Given the description of an element on the screen output the (x, y) to click on. 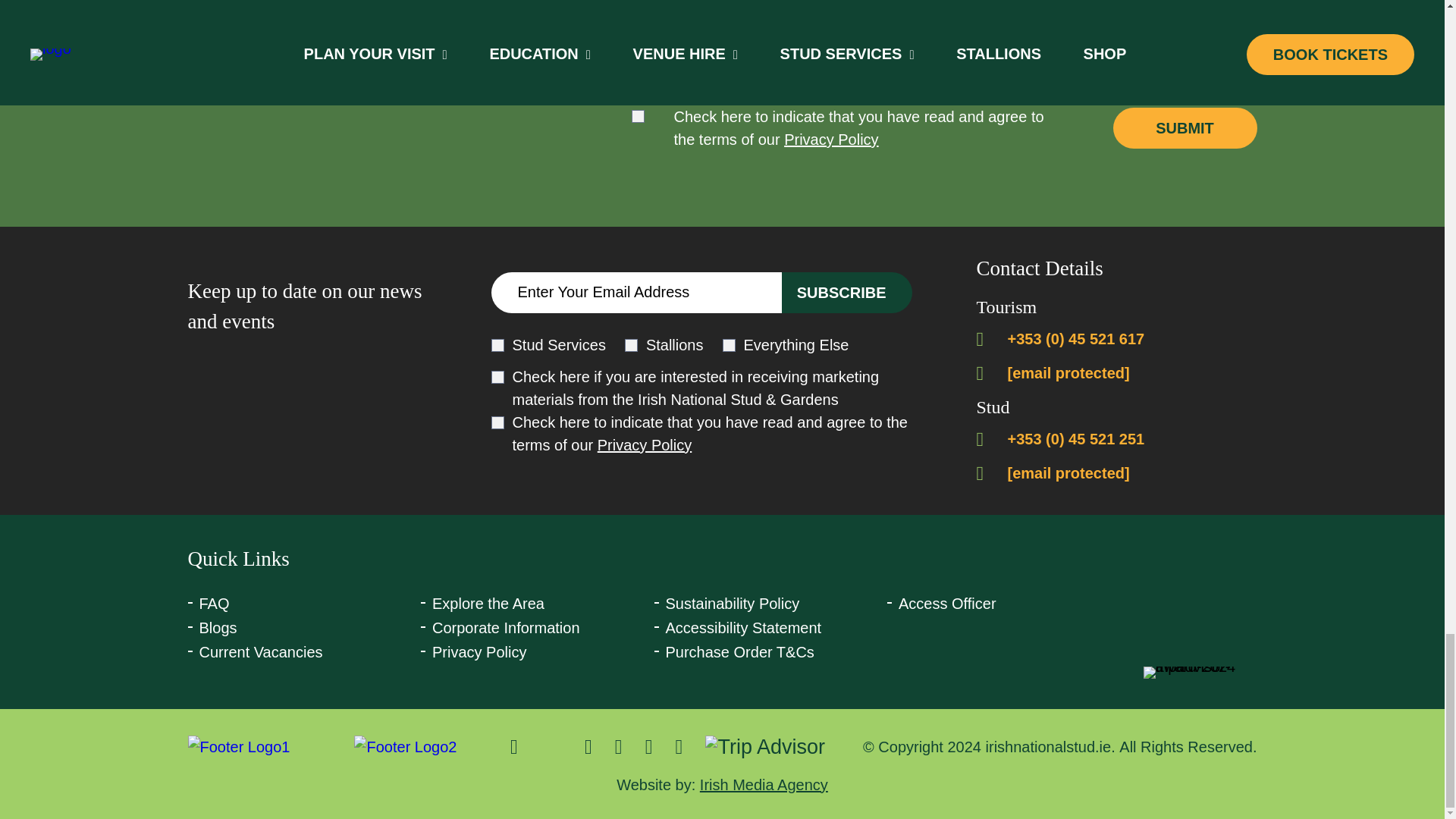
Subscribe (846, 291)
Submit (1185, 127)
Privacy Policy (830, 138)
Submit (1185, 127)
